Given the description of an element on the screen output the (x, y) to click on. 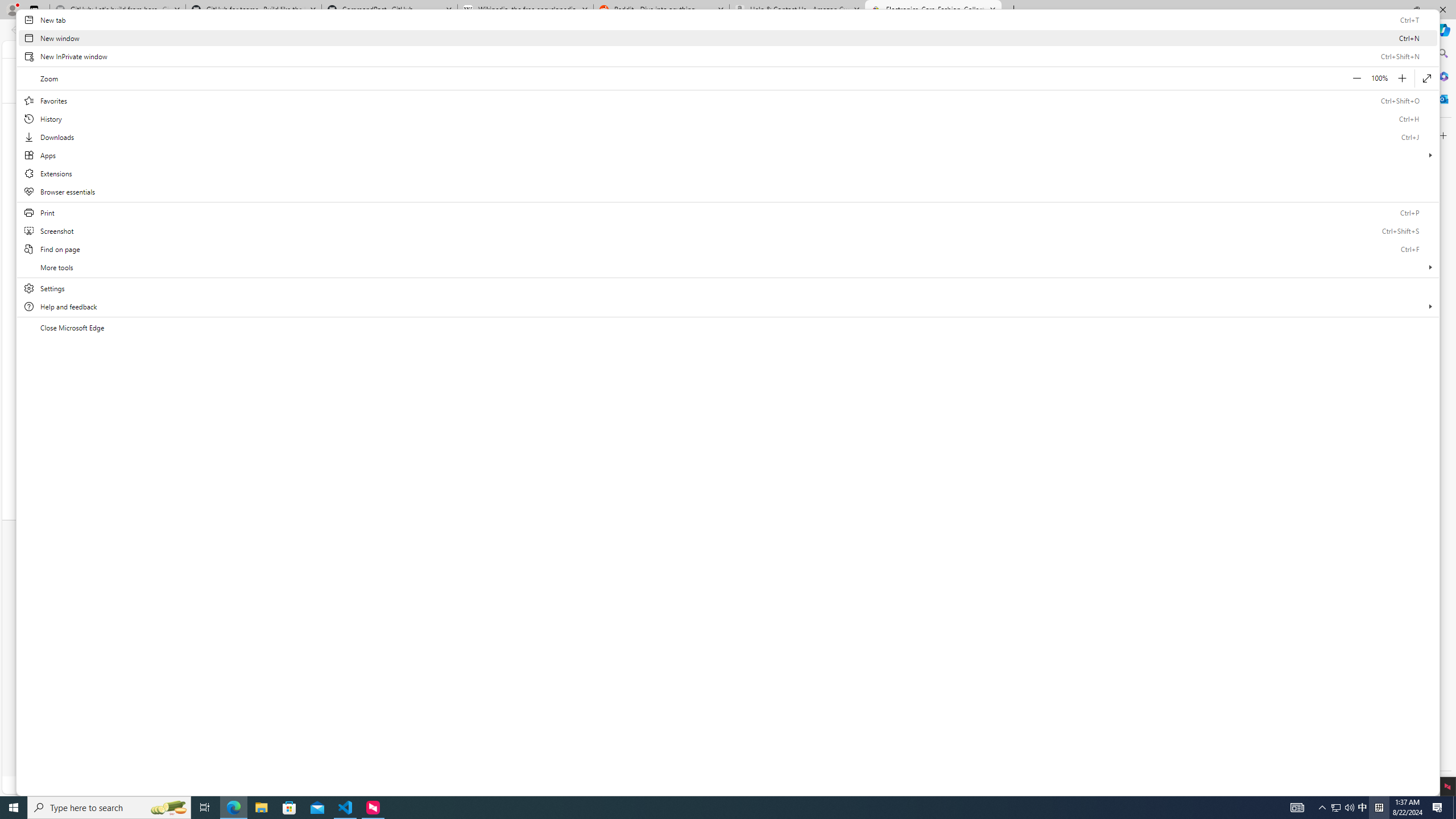
Careers (858, 614)
Verified Rights Owner (VeRO) Program (857, 669)
Stores (371, 614)
Sneakers (510, 433)
Affiliates (519, 600)
eBay Money Back Guarantee (406, 587)
Contact us (1015, 587)
AdChoice (945, 749)
Luxury (408, 433)
Company info (819, 573)
SellExpand: Sell (986, 112)
Announcements (989, 624)
eBay Giving Works (994, 652)
